Given the description of an element on the screen output the (x, y) to click on. 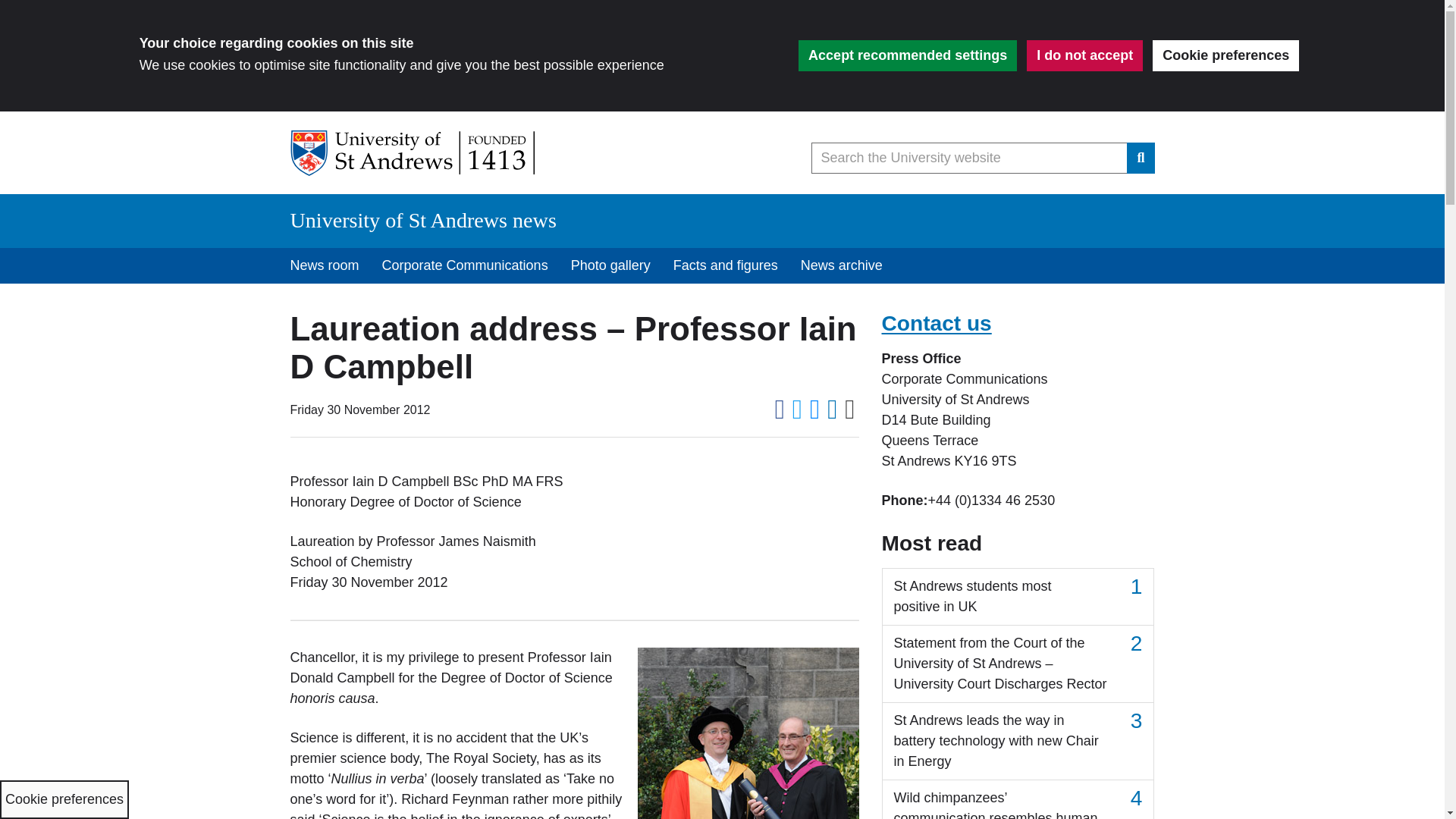
Photo gallery (610, 265)
Facts and figures (725, 265)
Accept recommended settings (906, 55)
News archive (841, 265)
University of St Andrews news (422, 219)
St Andrews students most positive in UK (1017, 596)
Cookie preferences (1225, 55)
News room (325, 265)
I do not accept (1084, 55)
Corporate Communications (465, 265)
Contact us (935, 323)
